Given the description of an element on the screen output the (x, y) to click on. 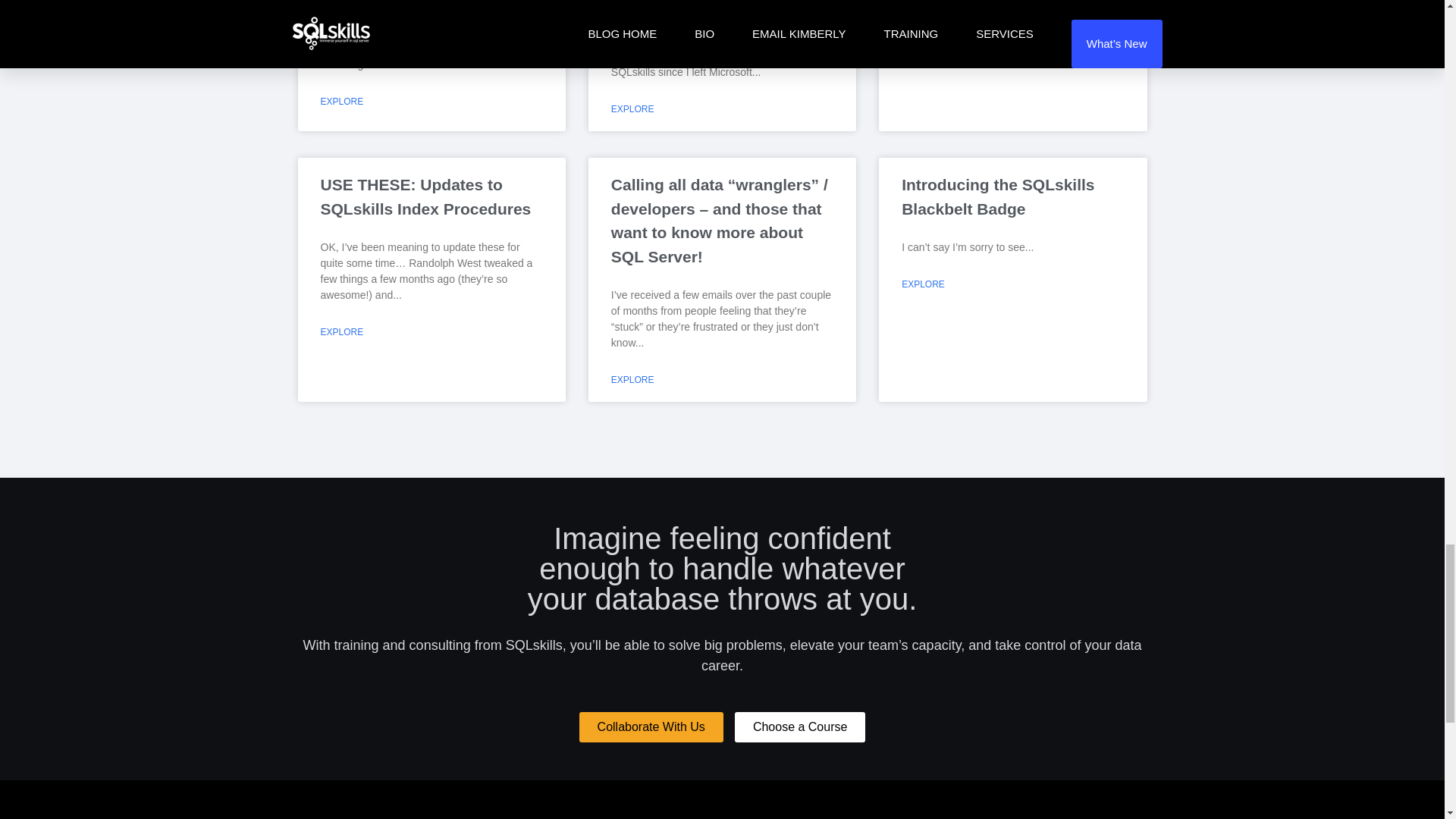
EXPLORE (341, 100)
EXPLORE (341, 332)
EXPLORE (922, 60)
EXPLORE (632, 109)
USE THESE: Updates to SQLskills Index Procedures (425, 196)
